Given the description of an element on the screen output the (x, y) to click on. 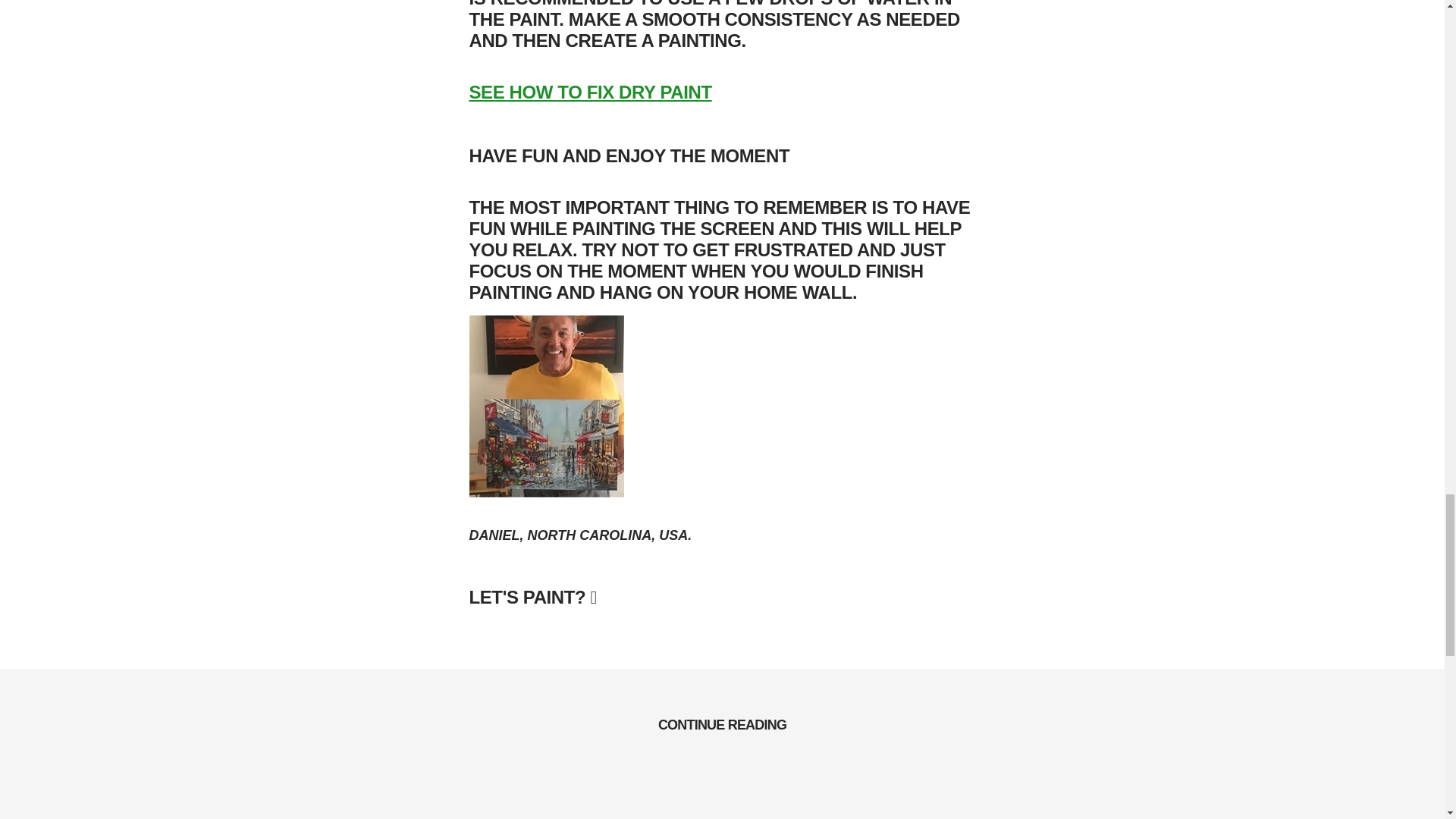
SEE HOW TO FIX DRY PAINT (589, 91)
